Given the description of an element on the screen output the (x, y) to click on. 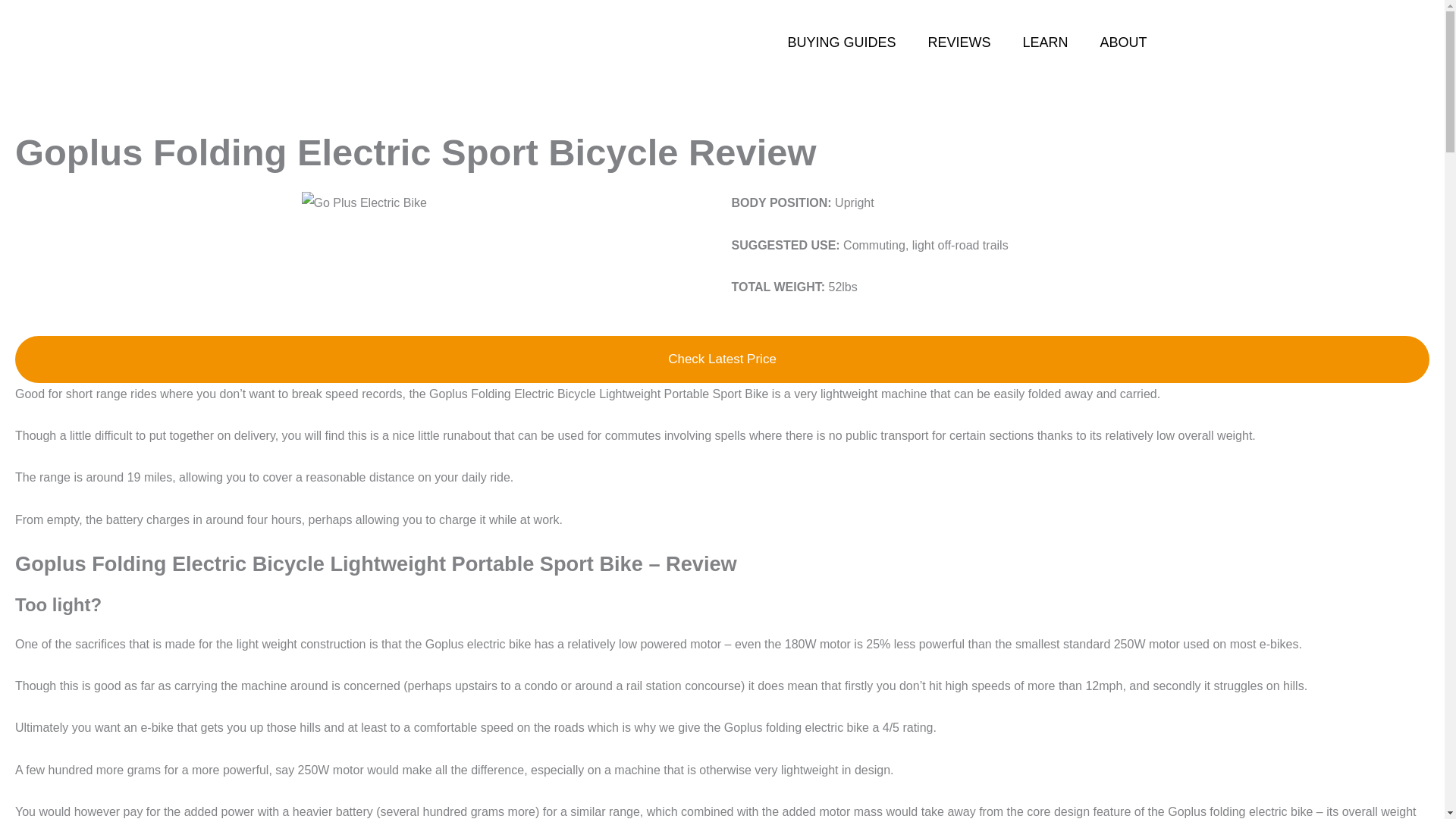
LEARN (1044, 42)
REVIEWS (958, 42)
BUYING GUIDES (841, 42)
ABOUT (1123, 42)
Goplus Folding Electric Sport Bicycle Review 1 (363, 202)
